Given the description of an element on the screen output the (x, y) to click on. 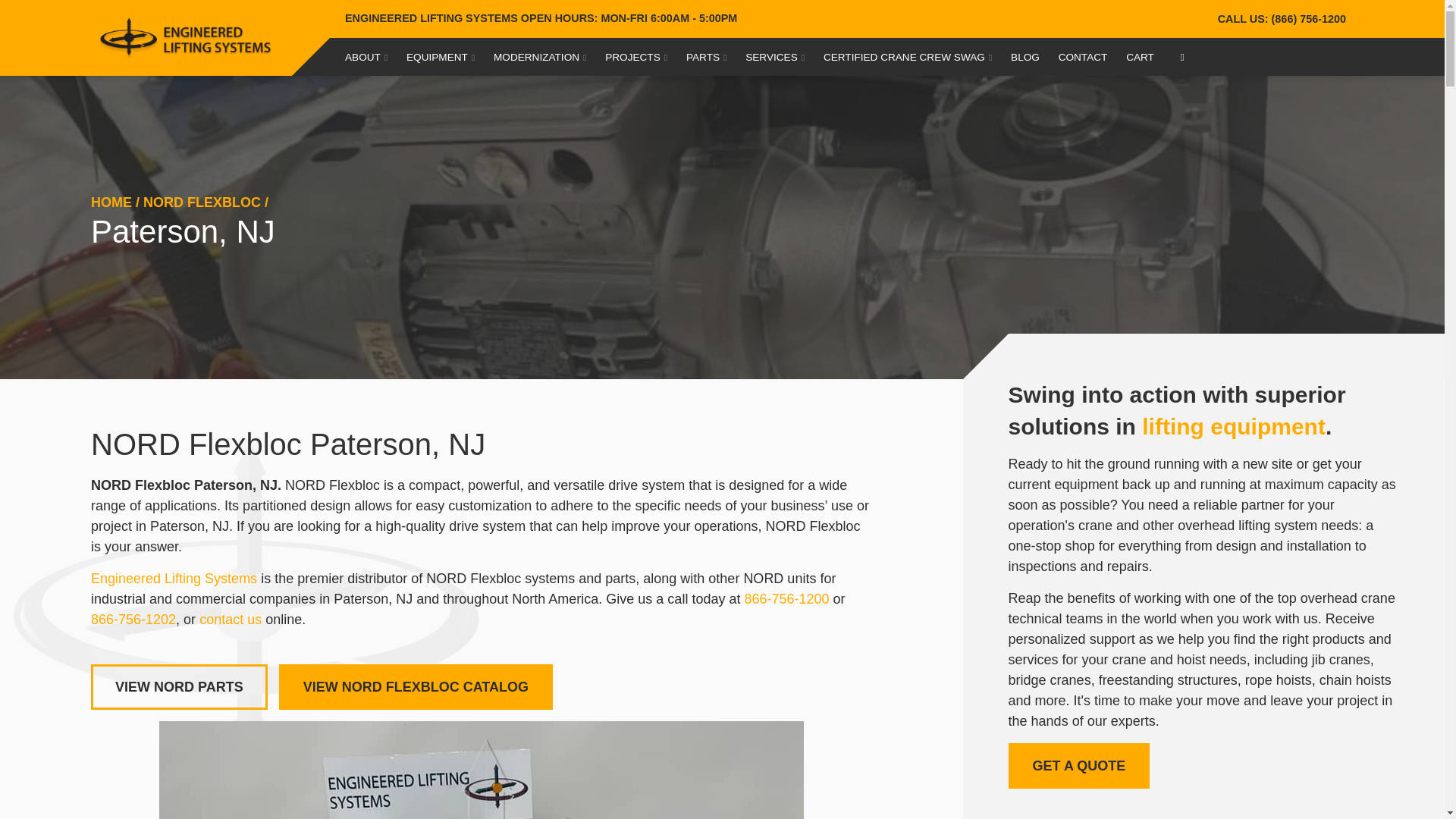
EQUIPMENT (439, 56)
ABOUT (365, 56)
